Given the description of an element on the screen output the (x, y) to click on. 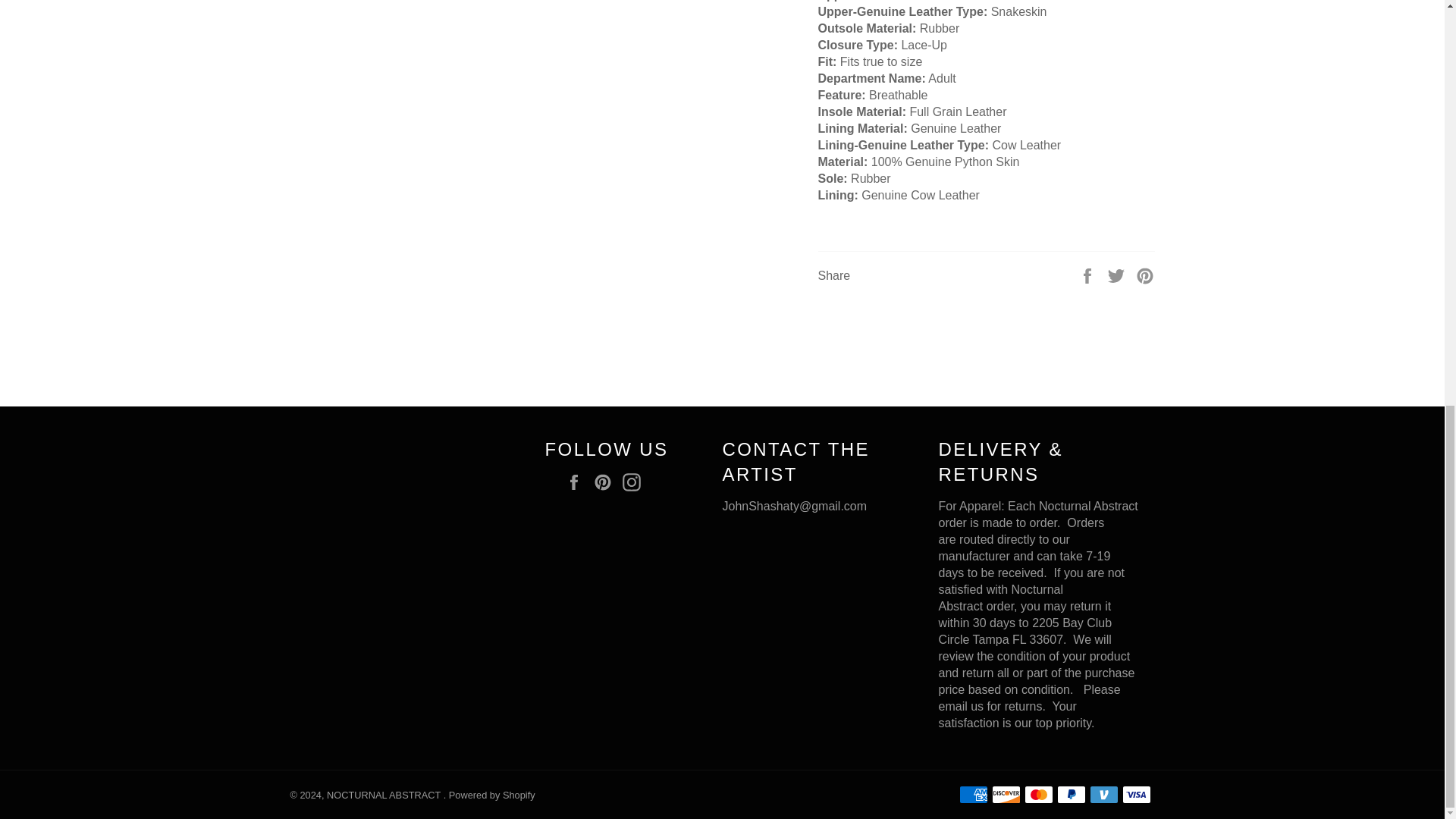
Share on Facebook (1088, 274)
Pin on Pinterest (1144, 274)
NOCTURNAL ABSTRACT  on Facebook (577, 482)
Tweet on Twitter (1117, 274)
NOCTURNAL ABSTRACT  on Instagram (635, 482)
NOCTURNAL ABSTRACT  on Pinterest (607, 482)
